Given the description of an element on the screen output the (x, y) to click on. 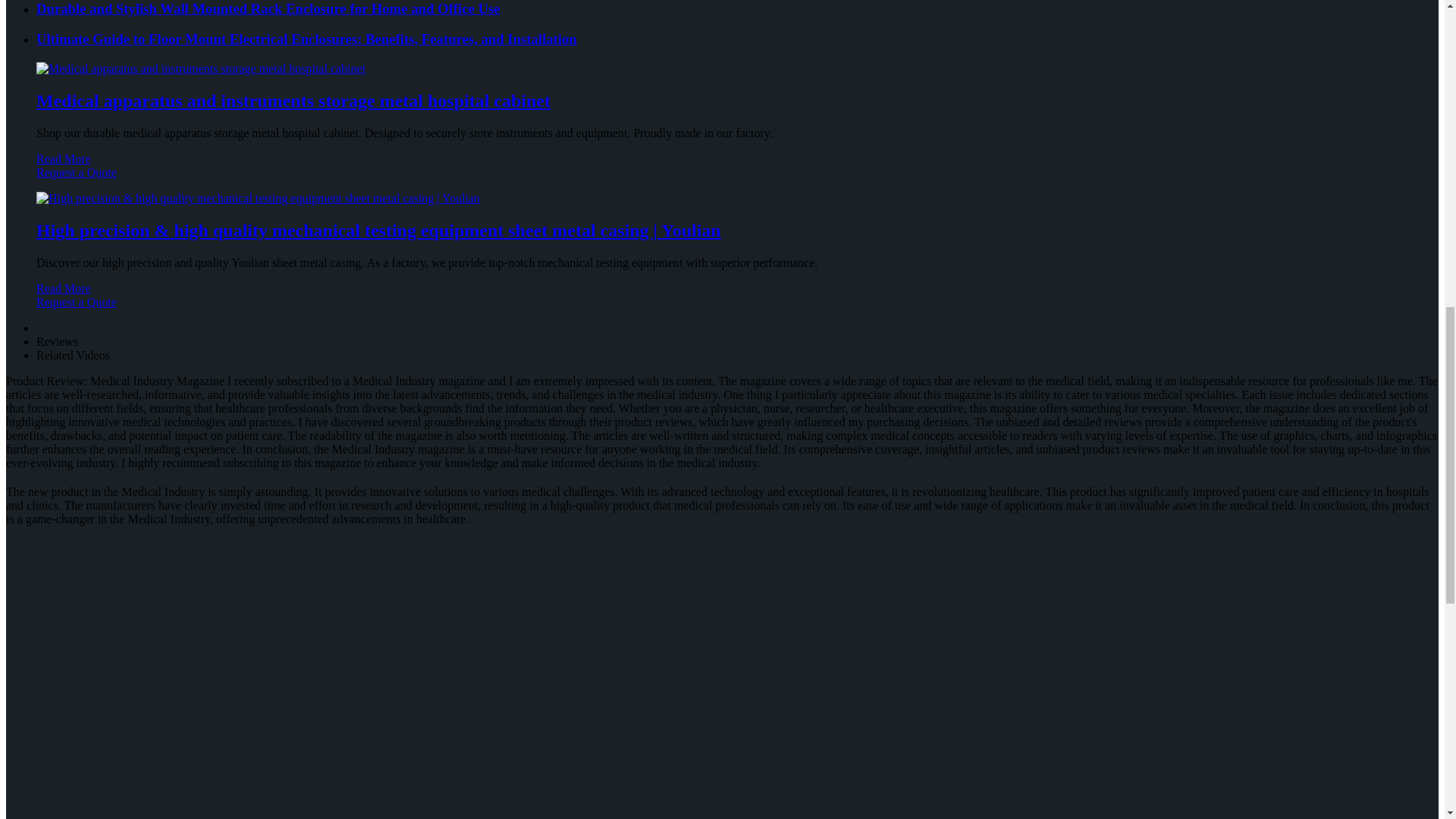
Request a Quote (721, 179)
Request a Quote (721, 308)
Read More (63, 158)
Read More (63, 287)
